Given the description of an element on the screen output the (x, y) to click on. 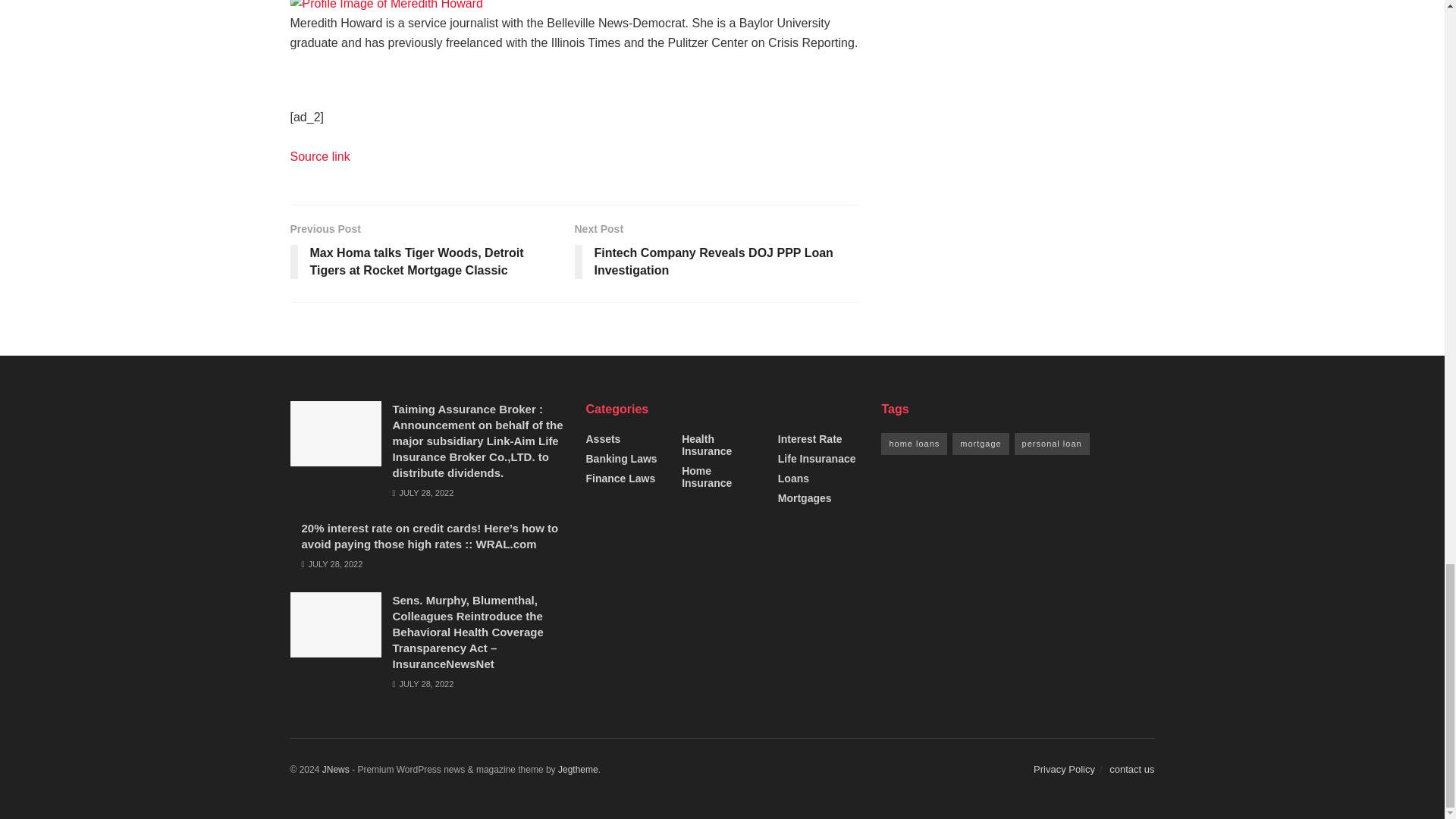
Jegtheme (577, 769)
